Given the description of an element on the screen output the (x, y) to click on. 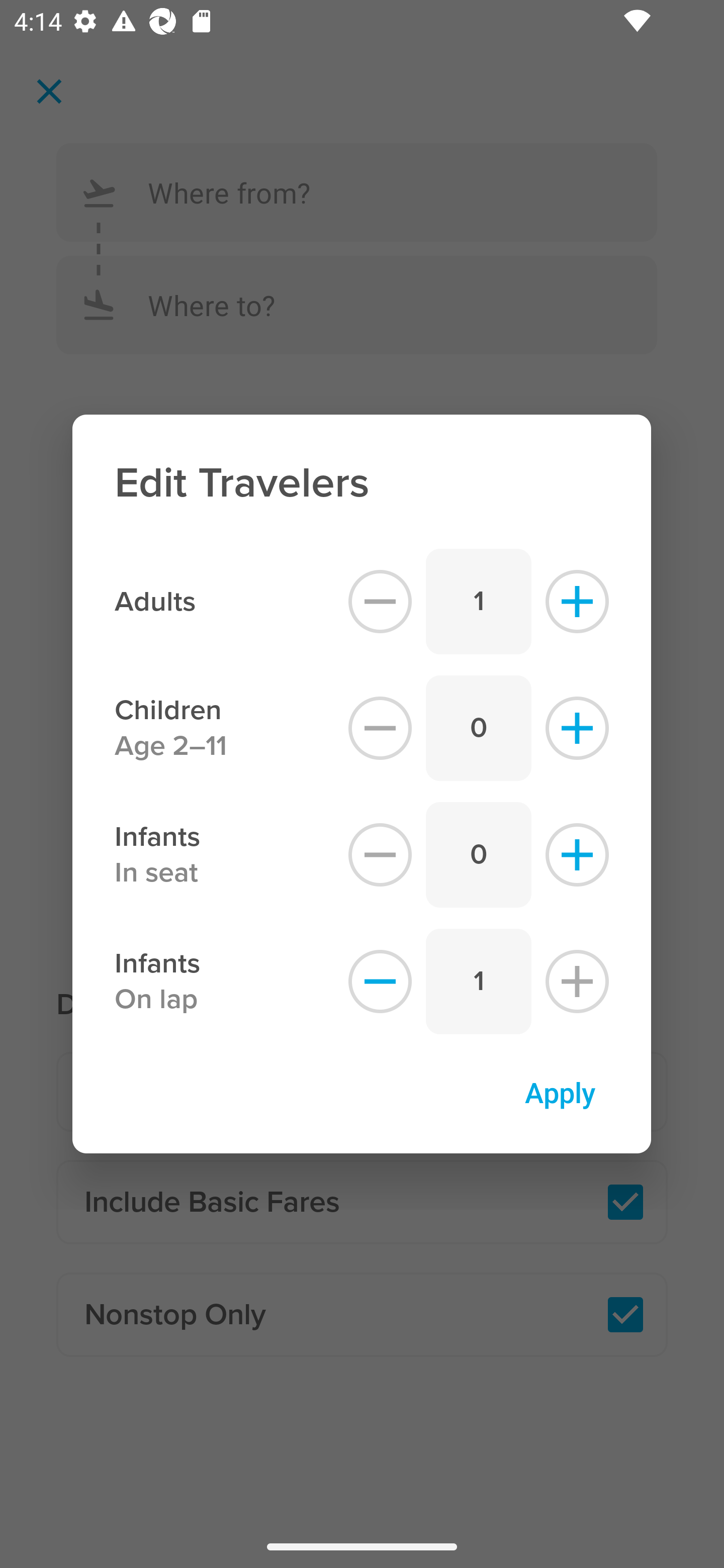
Decrease value (379, 600)
Increase value (576, 600)
Decrease value (379, 727)
Increase value (576, 727)
Decrease value (379, 854)
Increase value (576, 854)
Decrease value (379, 981)
Increase value (576, 981)
Apply (559, 1091)
